Given the description of an element on the screen output the (x, y) to click on. 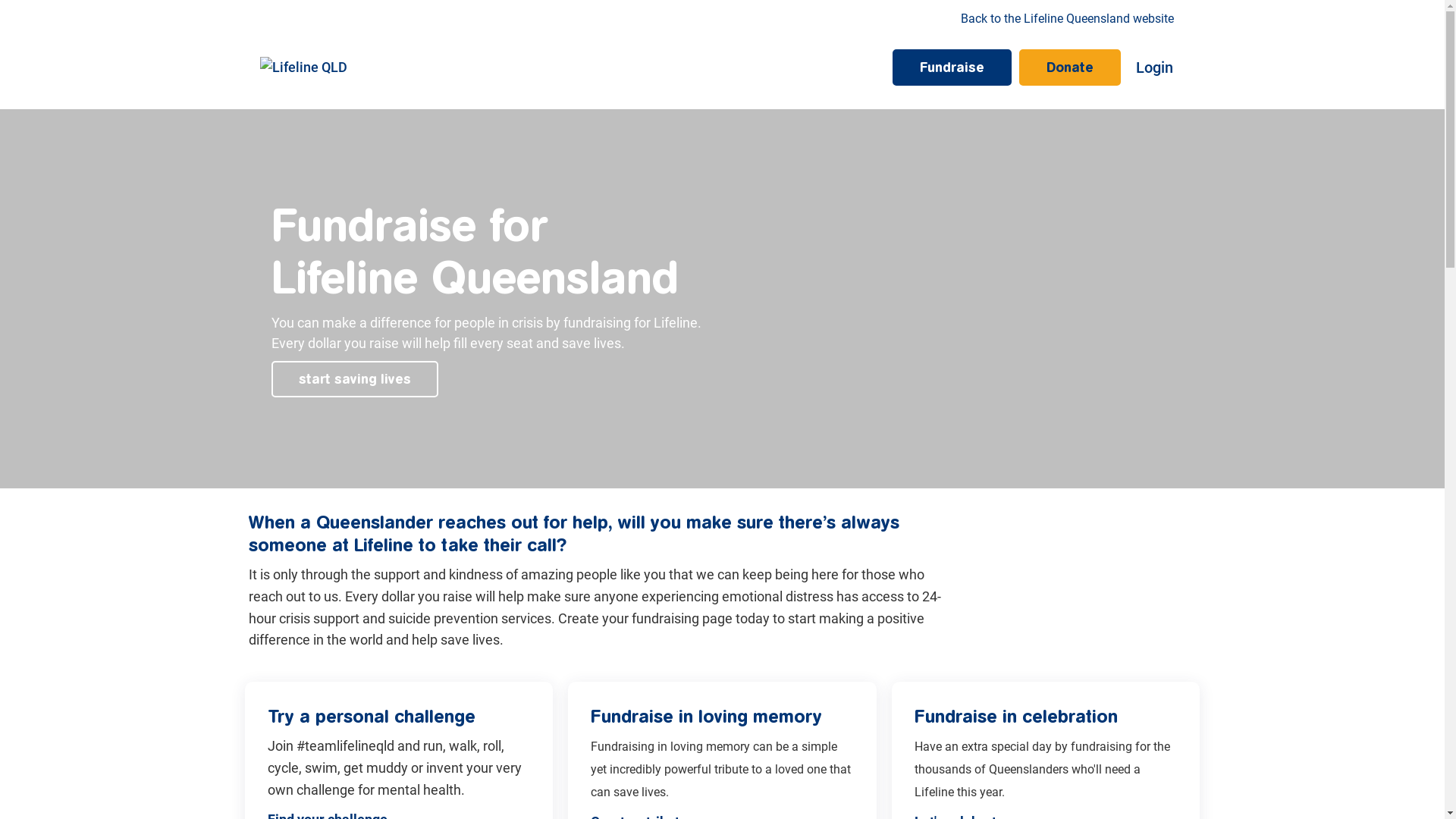
Fundraise Element type: text (951, 67)
start saving lives Element type: text (354, 379)
Donate Element type: text (1069, 67)
Back to the Lifeline Queensland website Element type: text (1067, 18)
Login Element type: text (1154, 67)
